Given the description of an element on the screen output the (x, y) to click on. 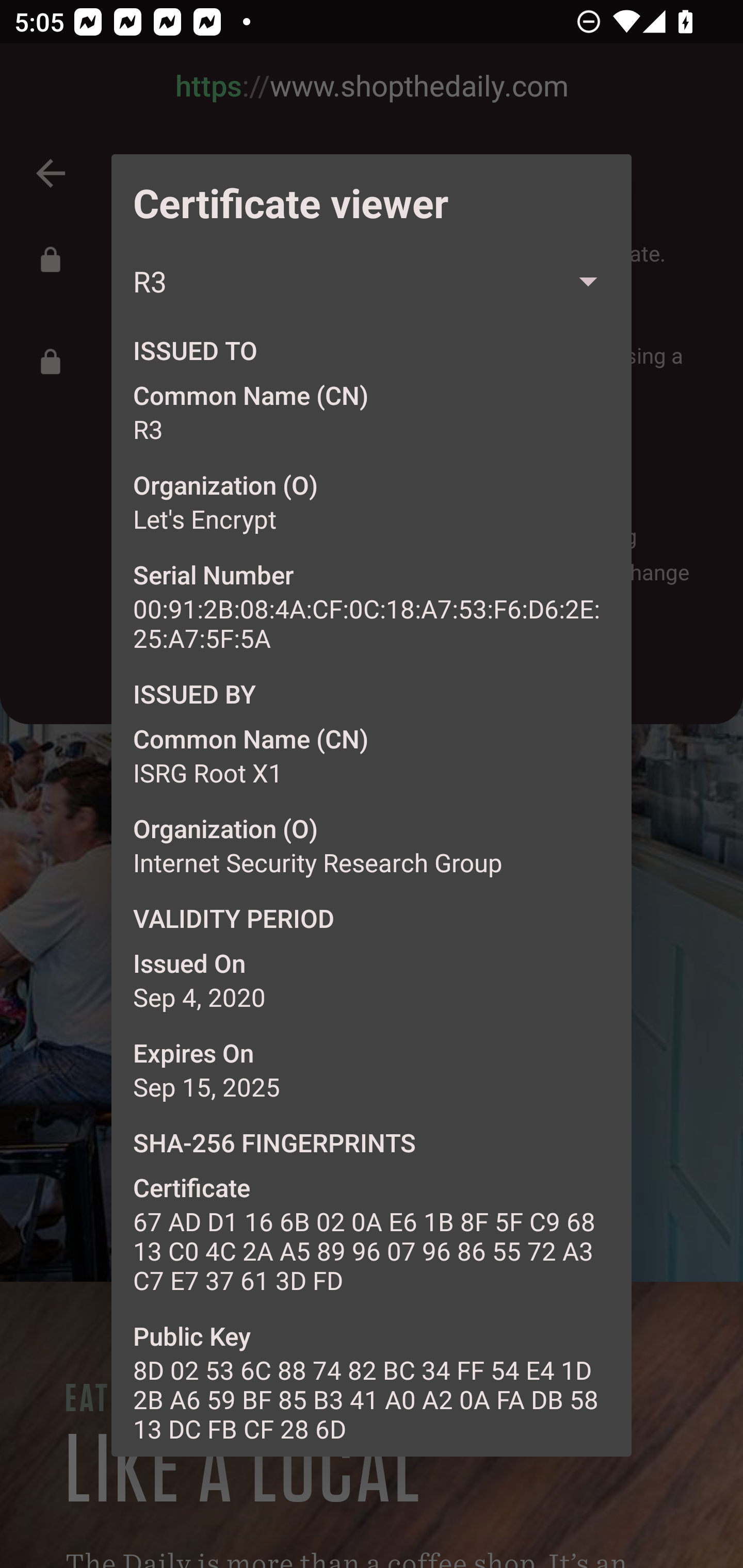
R3 (371, 281)
